Given the description of an element on the screen output the (x, y) to click on. 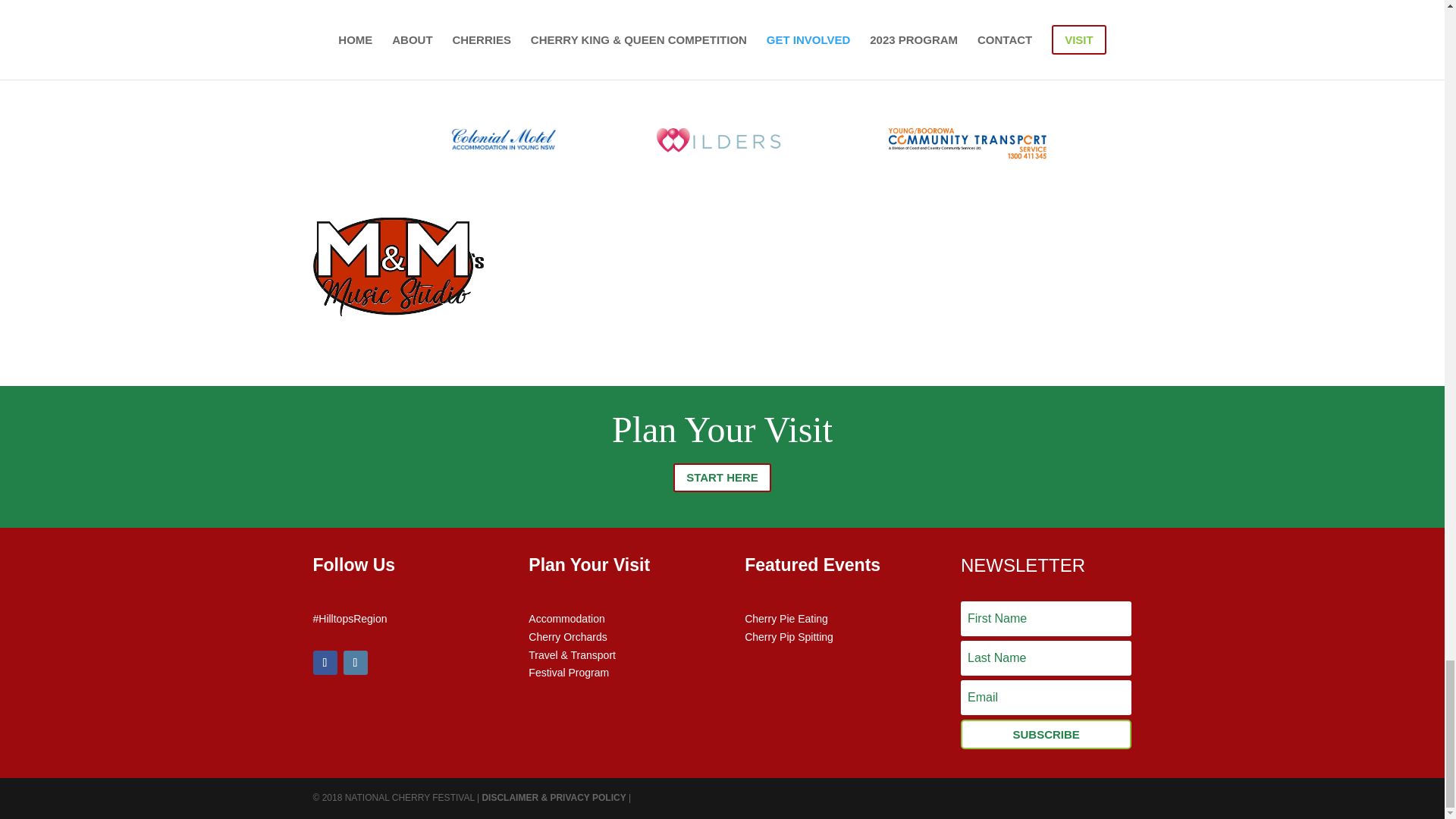
Follow on Instagram (354, 662)
Wilders Bakery Logo (721, 141)
Valley Fresh- Full Colour Logo (721, 35)
Follow on Facebook (324, 662)
SUBSCRIBE (1045, 734)
Young Boorowa CTS ph (967, 142)
Cherry Pip Spitting (788, 636)
Cherry Orchards (567, 636)
Cherry Pie Eating (786, 618)
Accommodation (566, 618)
Festival Program (568, 672)
BlackGreen higher res (433, 27)
Colonial Motel (502, 138)
START HERE (721, 478)
